Given the description of an element on the screen output the (x, y) to click on. 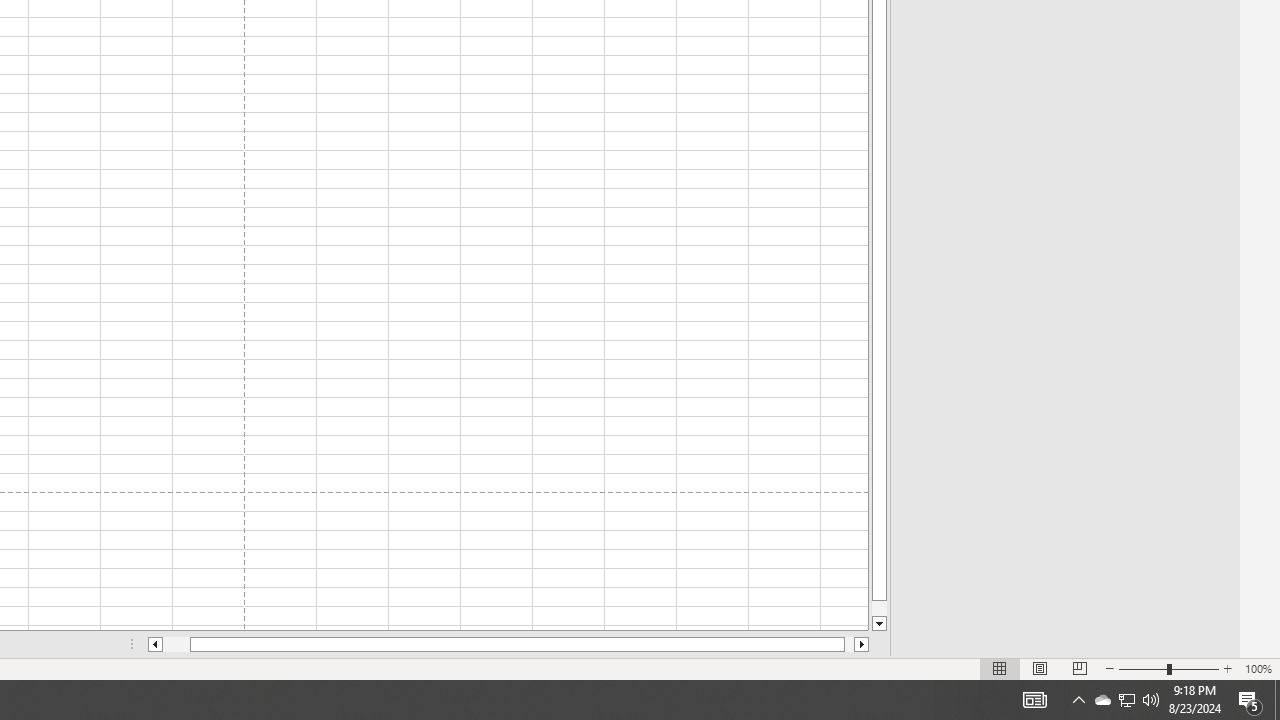
Page down (879, 608)
Page left (175, 644)
